Given the description of an element on the screen output the (x, y) to click on. 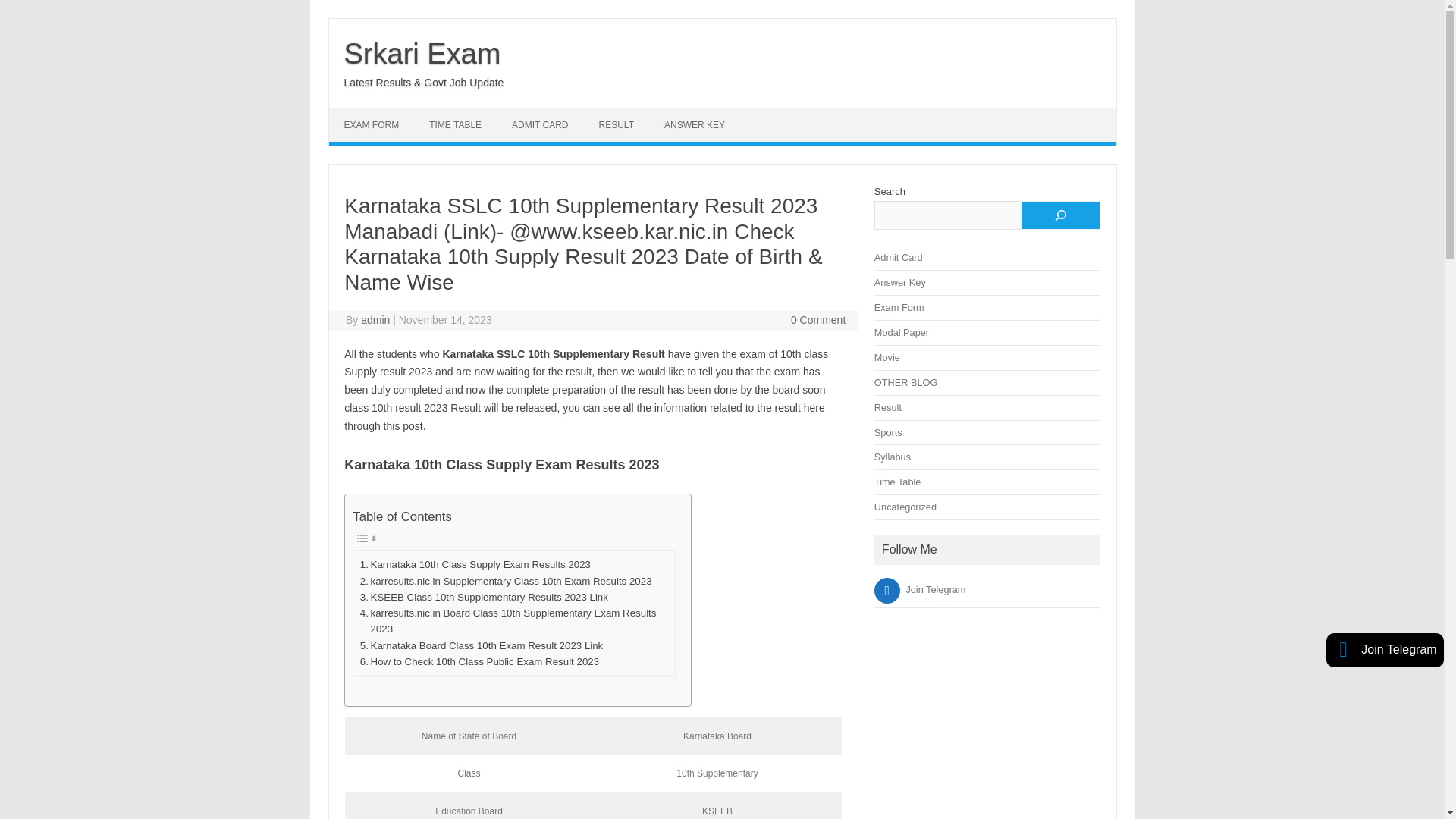
TIME TABLE (454, 124)
0 Comment (817, 319)
karresults.nic.in Supplementary Class 10th Exam Results 2023 (505, 580)
Srkari Exam (421, 53)
Exam Form (899, 307)
ADMIT CARD (539, 124)
ANSWER KEY (694, 124)
Modal Paper (901, 332)
How to Check 10th Class Public Exam Result 2023 (478, 661)
Join Telegram (920, 589)
RESULT (616, 124)
Result (888, 407)
EXAM FORM (371, 124)
